Given the description of an element on the screen output the (x, y) to click on. 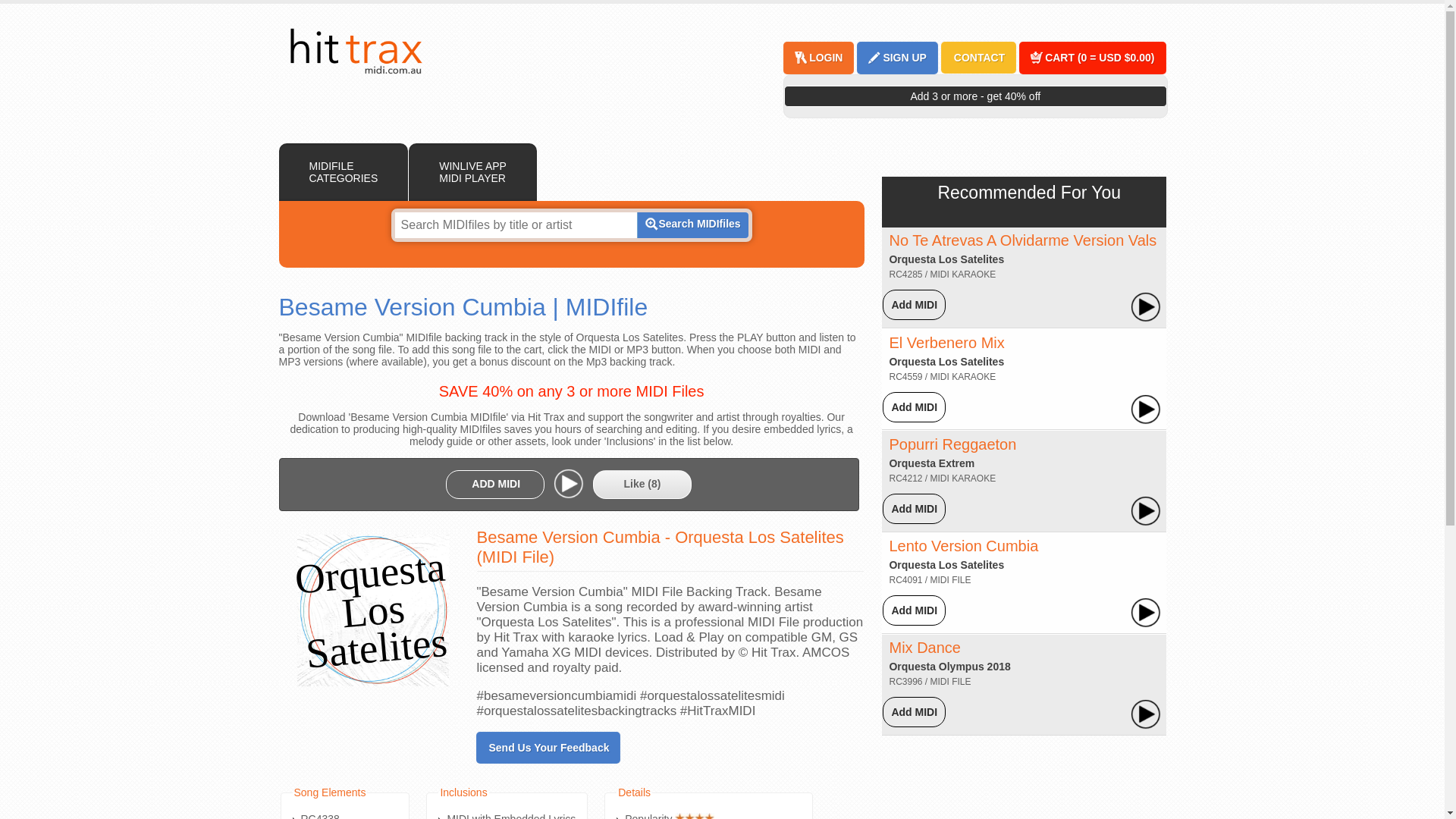
Search MIDIfile (698, 223)
SIGN UP (903, 57)
Lento Version Cumbia (963, 545)
No Te Atrevas A Olvidarme Version Vals (1022, 239)
Mix Dance (923, 647)
Send Us Your Feedback (547, 747)
Orquesta Los Satelites MIDI backing Track (946, 361)
Add MIDI (914, 508)
Play besame version cumbia (568, 483)
Add MIDI (914, 610)
Popurri Reggaeton (952, 443)
Send Us Your Feedback (547, 747)
El Verbenero Mix (946, 342)
Add MIDI (914, 304)
